Given the description of an element on the screen output the (x, y) to click on. 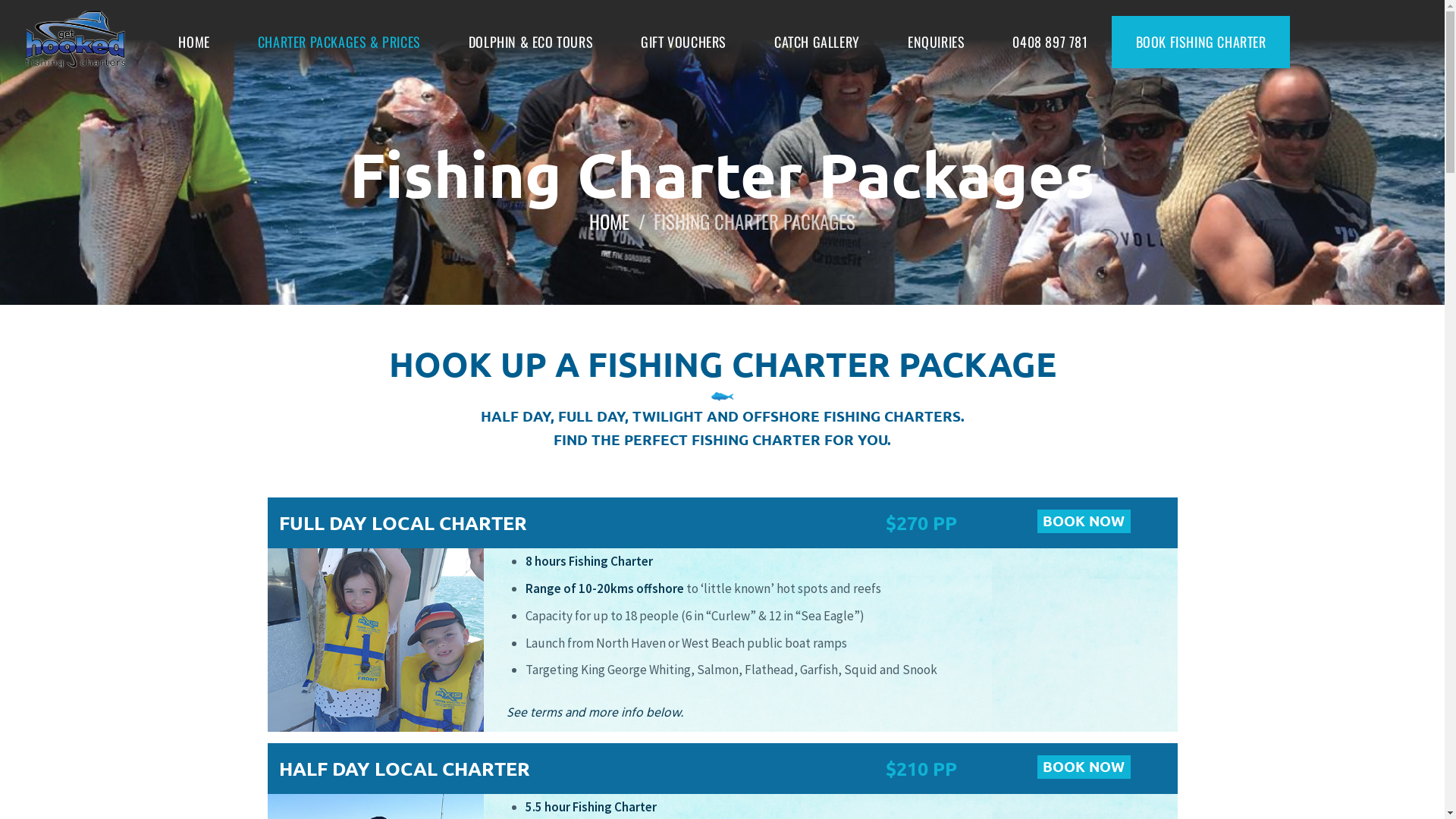
ENQUIRIES Element type: text (935, 41)
BOOK NOW Element type: text (1101, 766)
GIFT VOUCHERS Element type: text (683, 41)
0408 897 781 Element type: text (1049, 41)
DOLPHIN & ECO TOURS Element type: text (530, 41)
BOOK NOW Element type: text (1101, 521)
BOOK FISHING CHARTER Element type: text (1200, 41)
CATCH GALLERY Element type: text (817, 41)
CHARTER PACKAGES & PRICES Element type: text (338, 41)
HOME Element type: text (609, 221)
Get-Hooked-Fishing-Charters-Full-Day Element type: hover (374, 639)
HOME Element type: text (193, 41)
